Given the description of an element on the screen output the (x, y) to click on. 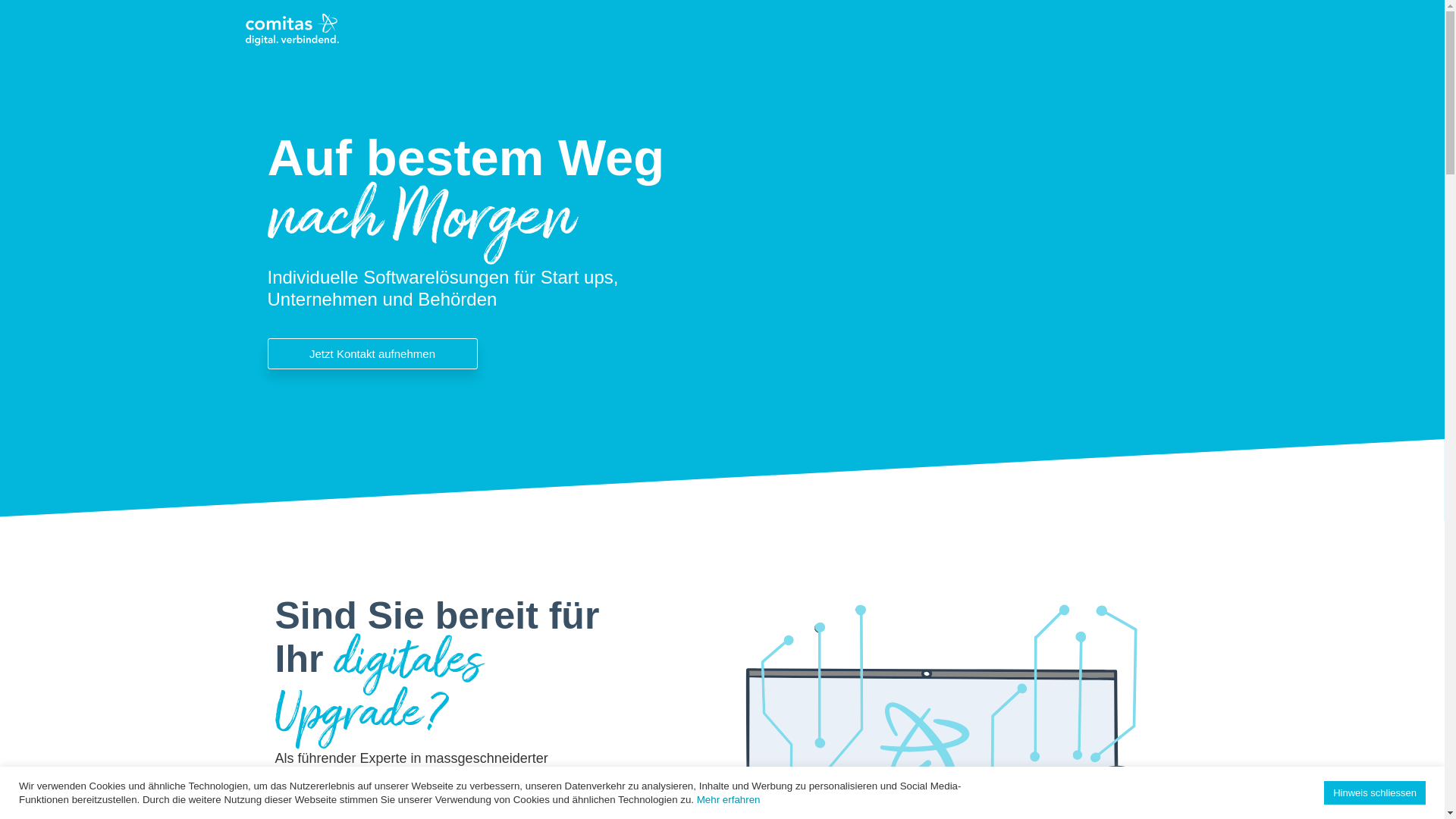
Hinweis schliessen Element type: text (1374, 792)
Jetzt Kontakt aufnehmen Element type: text (371, 353)
Mehr erfahren Element type: text (728, 798)
